Given the description of an element on the screen output the (x, y) to click on. 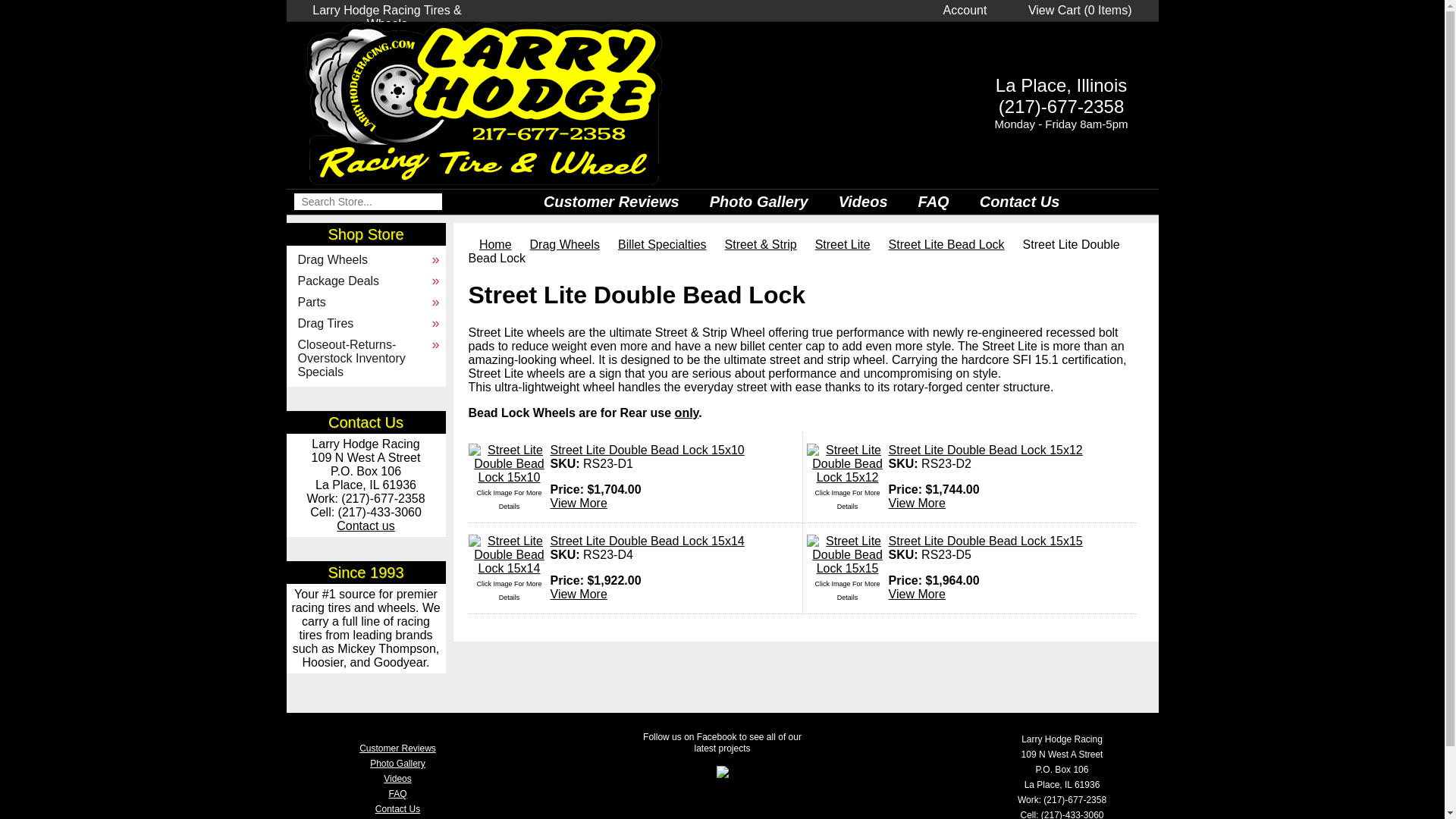
Drag Tires (365, 323)
My Cart (1079, 10)
Street Lite Double Bead Lock 15x12 (985, 449)
Street Lite Double Bead Lock 15x15 (985, 540)
Street Lite Double Bead Lock 15x14 (647, 540)
Drag Wheels (564, 244)
View More (916, 594)
Package Deals (365, 281)
Street Lite Double Bead Lock 15x10 (647, 449)
Street Lite Double Bead Lock 15x14 (647, 540)
